Given the description of an element on the screen output the (x, y) to click on. 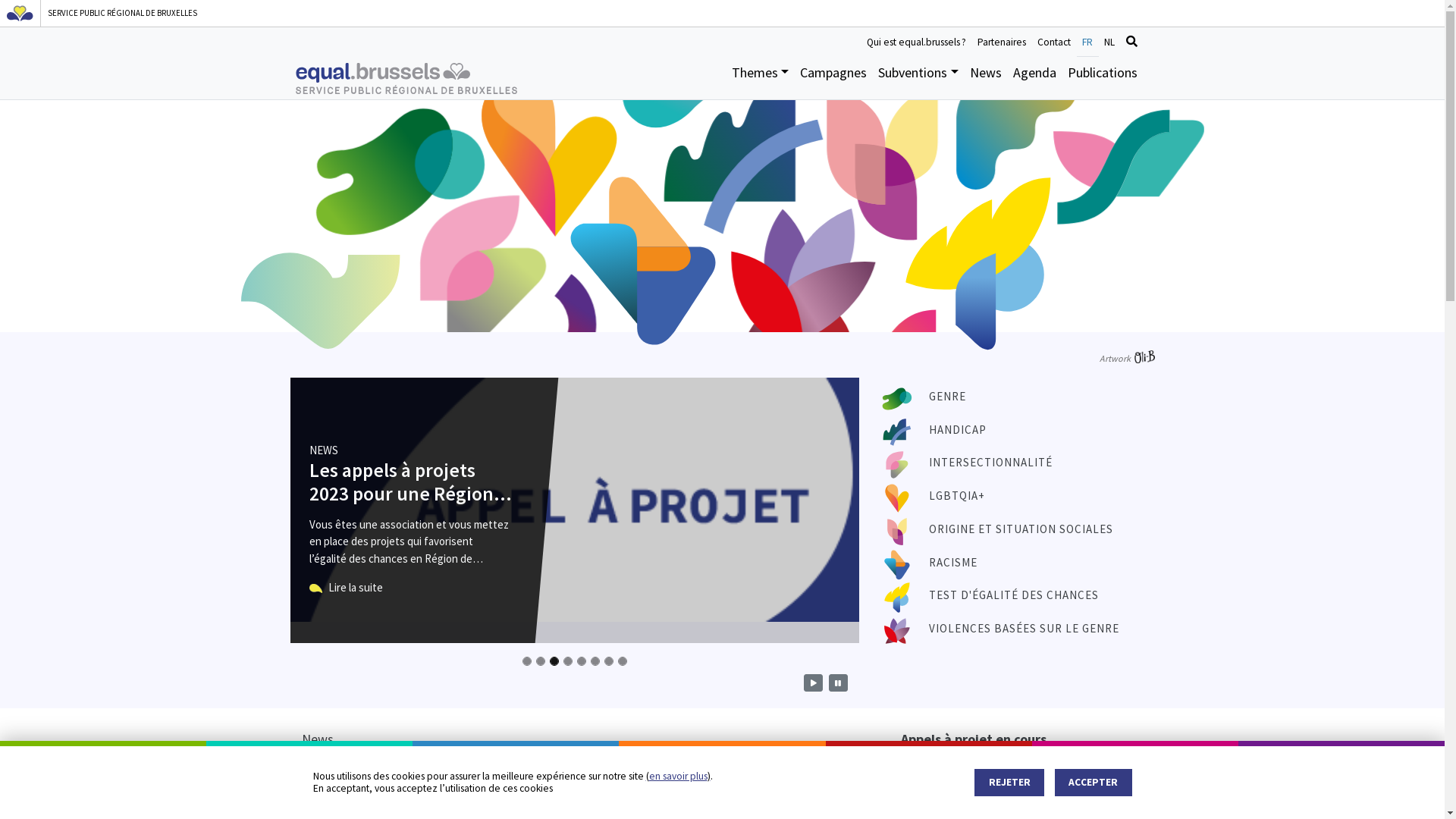
NL Element type: text (1109, 41)
FR Element type: text (1087, 41)
ACCEPTER Element type: text (1092, 782)
Rechercher Element type: text (1131, 41)
Agenda Element type: text (1034, 77)
en savoir plus Element type: text (678, 776)
ORIGINE ET SITUATION SOCIALES Element type: text (1020, 528)
Mettre le diaporama en pause Element type: text (837, 682)
Contact Element type: text (1053, 41)
GENRE Element type: text (947, 396)
News Element type: text (985, 77)
Publications Element type: text (1101, 77)
Artwork Element type: text (1126, 357)
REJETER Element type: text (1008, 782)
Campagnes Element type: text (833, 77)
Partenaires Element type: text (1002, 41)
Lire la suite Element type: text (345, 587)
RACISME Element type: text (952, 562)
HANDICAP Element type: text (957, 429)
Subventions Element type: text (918, 77)
Themes Element type: text (759, 77)
LGBTQIA+ Element type: text (956, 495)
